Given the description of an element on the screen output the (x, y) to click on. 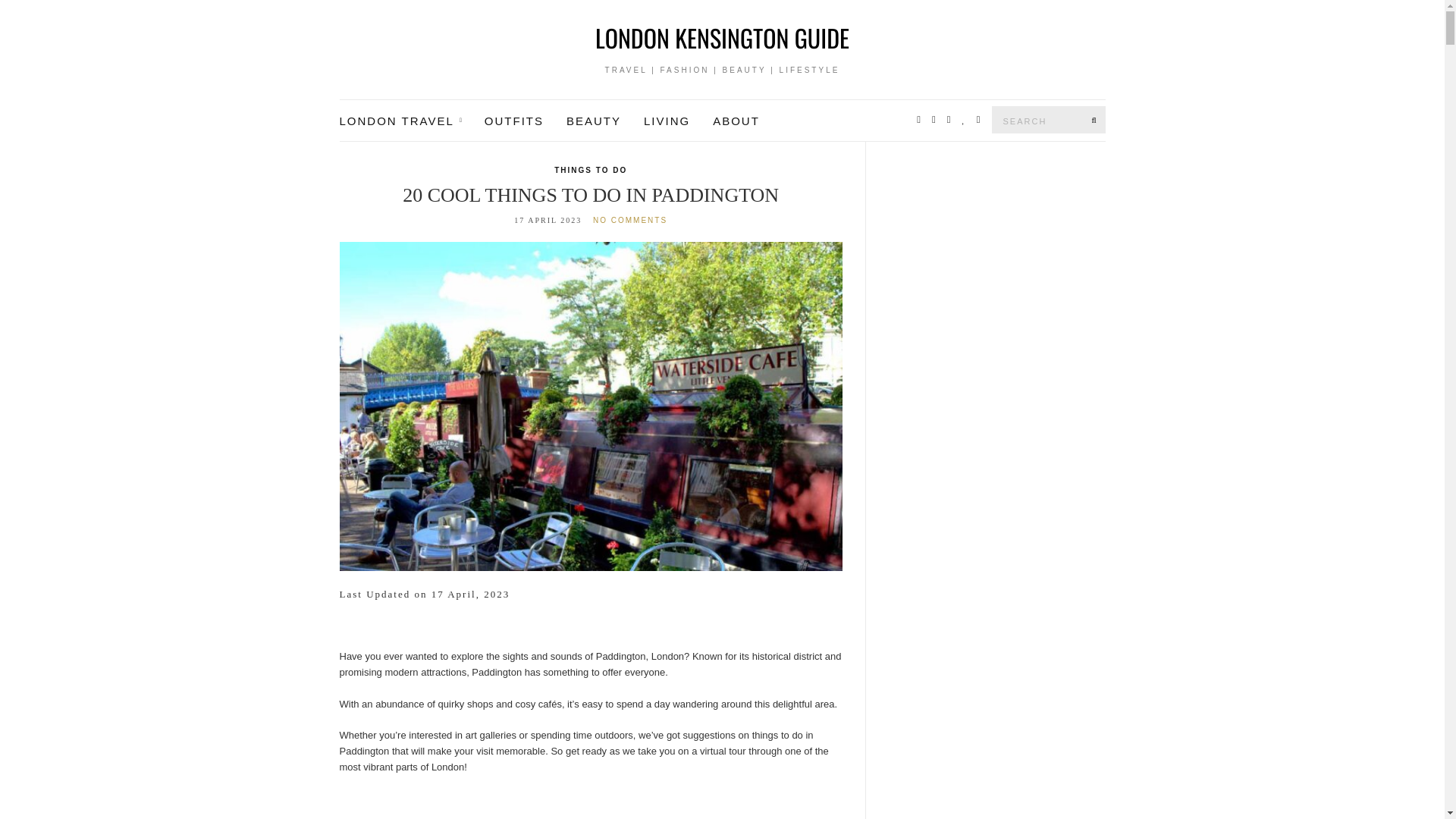
LONDON TRAVEL (400, 121)
